Given the description of an element on the screen output the (x, y) to click on. 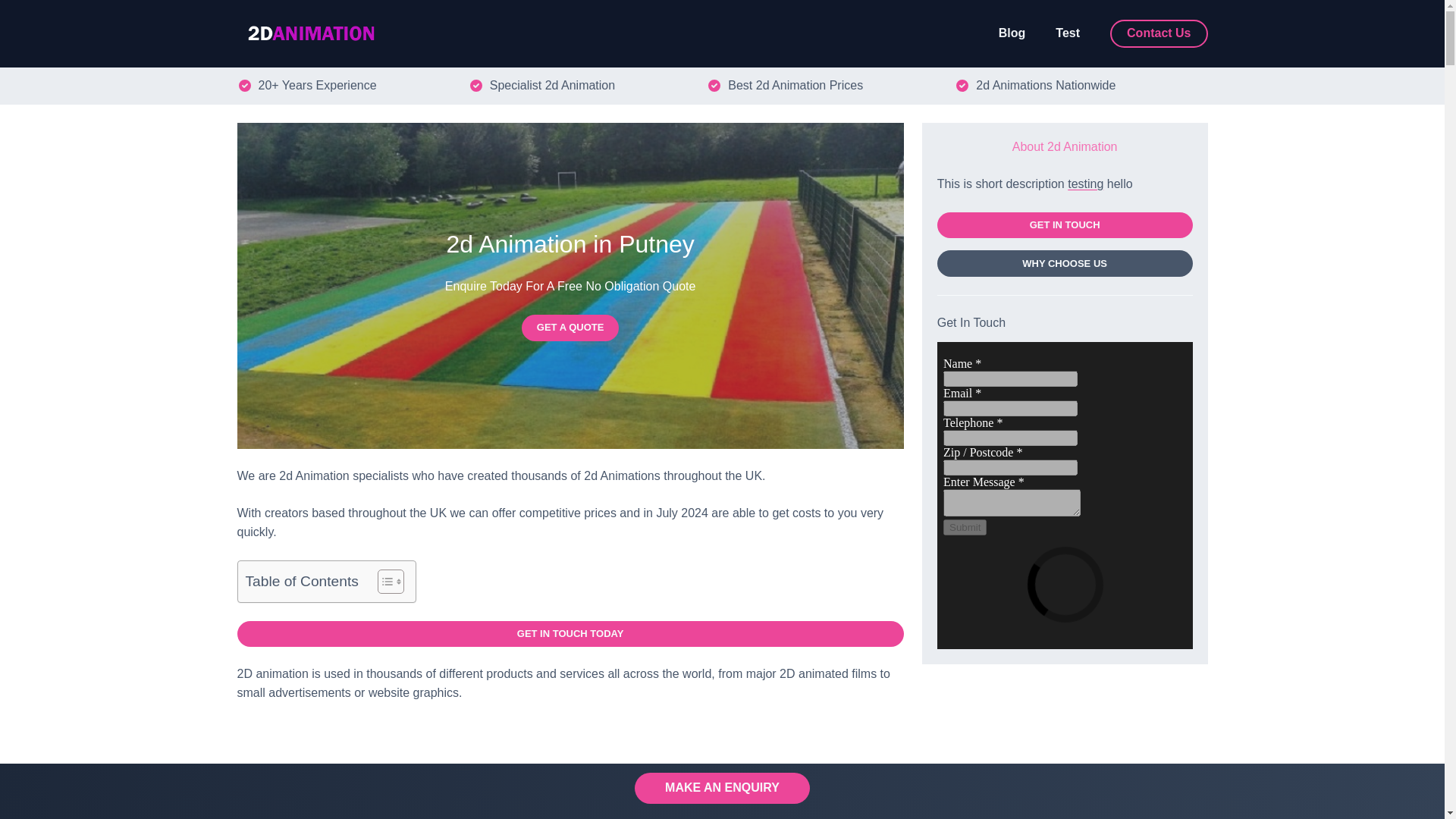
Test (1067, 33)
Contact Us (1158, 33)
GET A QUOTE (569, 327)
Blog (1012, 33)
